Given the description of an element on the screen output the (x, y) to click on. 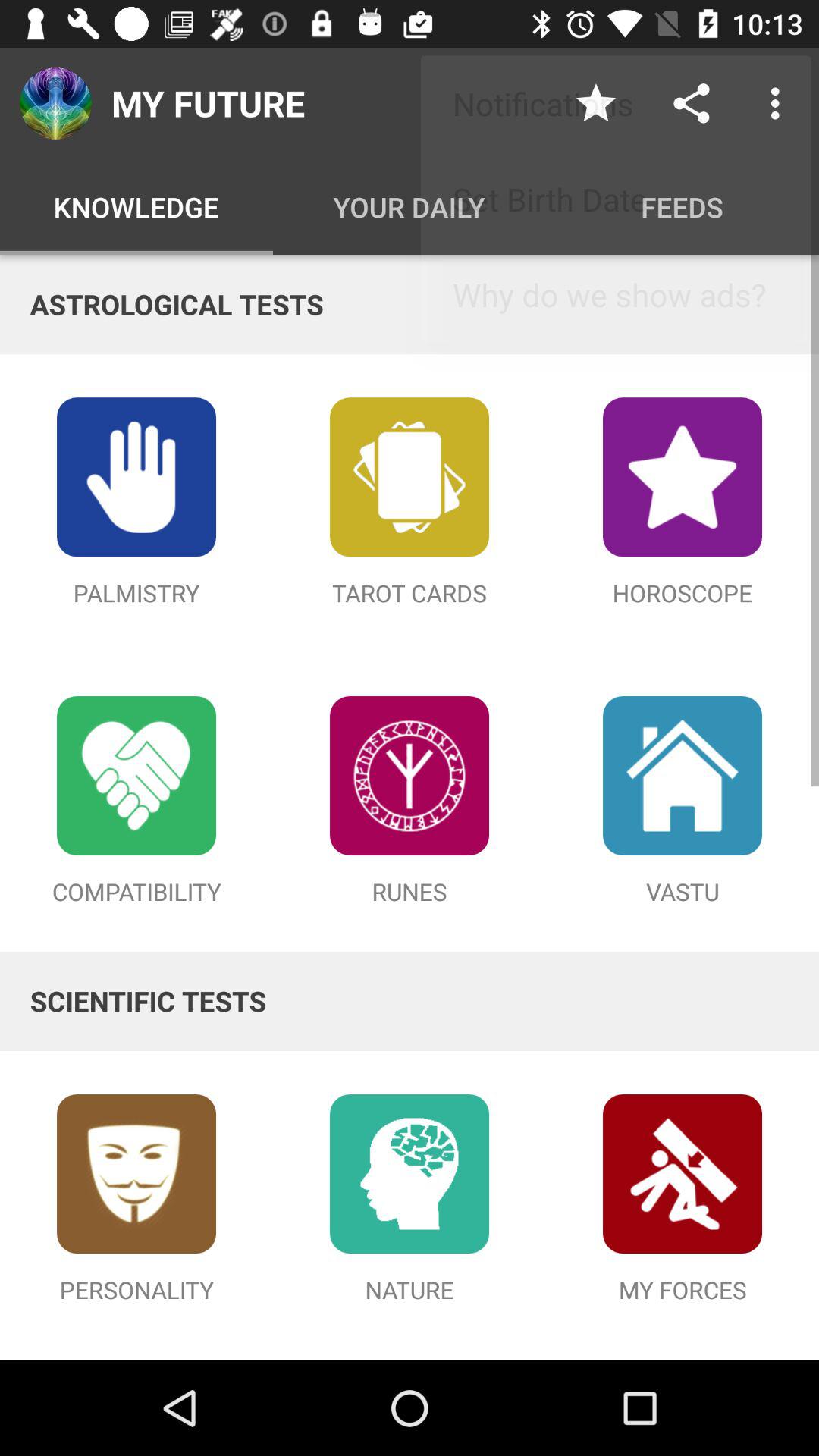
tap icon next to my future icon (595, 103)
